Given the description of an element on the screen output the (x, y) to click on. 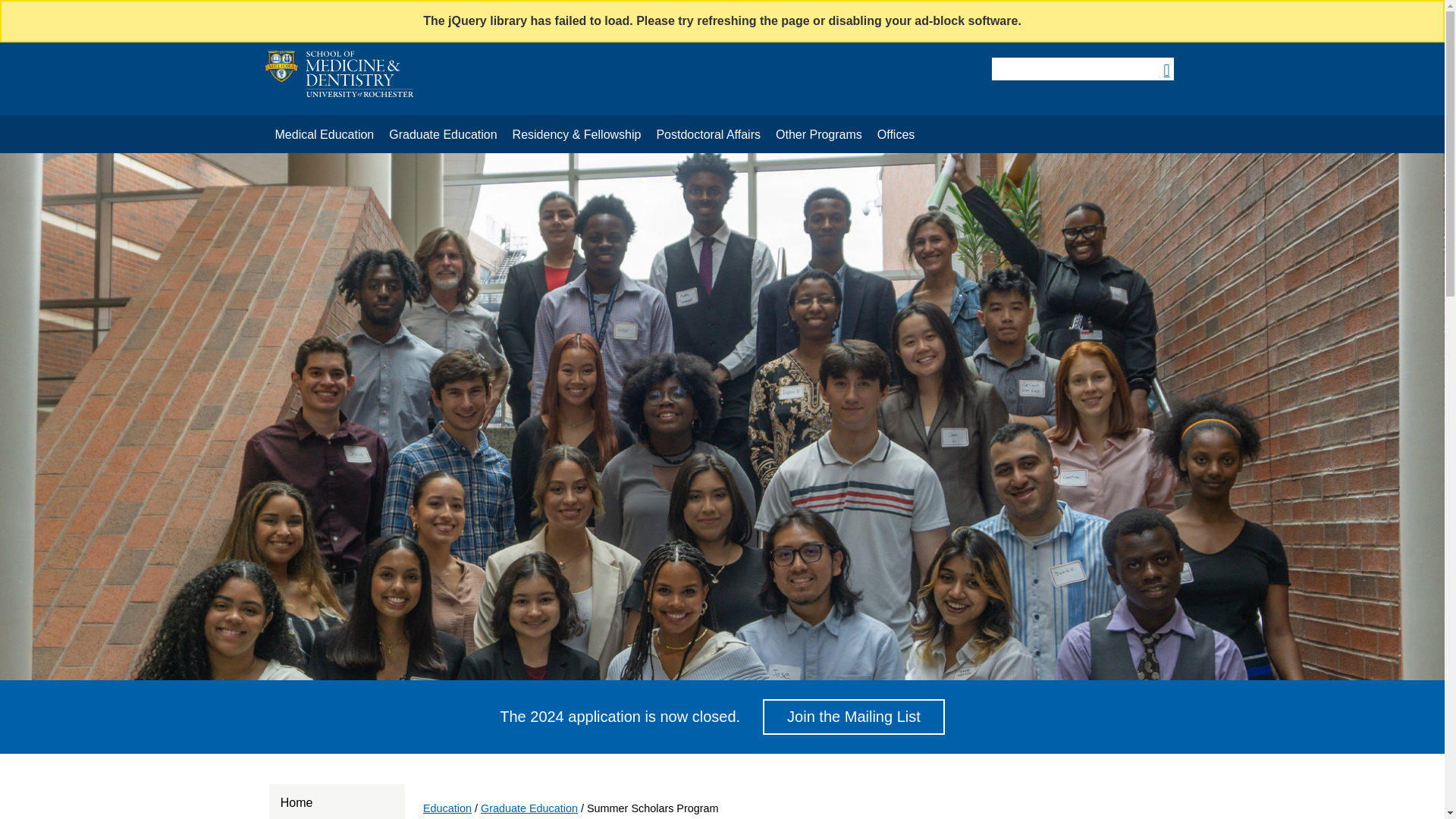
Graduate Education (442, 135)
Search URMC (1080, 68)
Medical Education (323, 135)
Medical Education (323, 135)
Graduate Education Programs (442, 135)
